Given the description of an element on the screen output the (x, y) to click on. 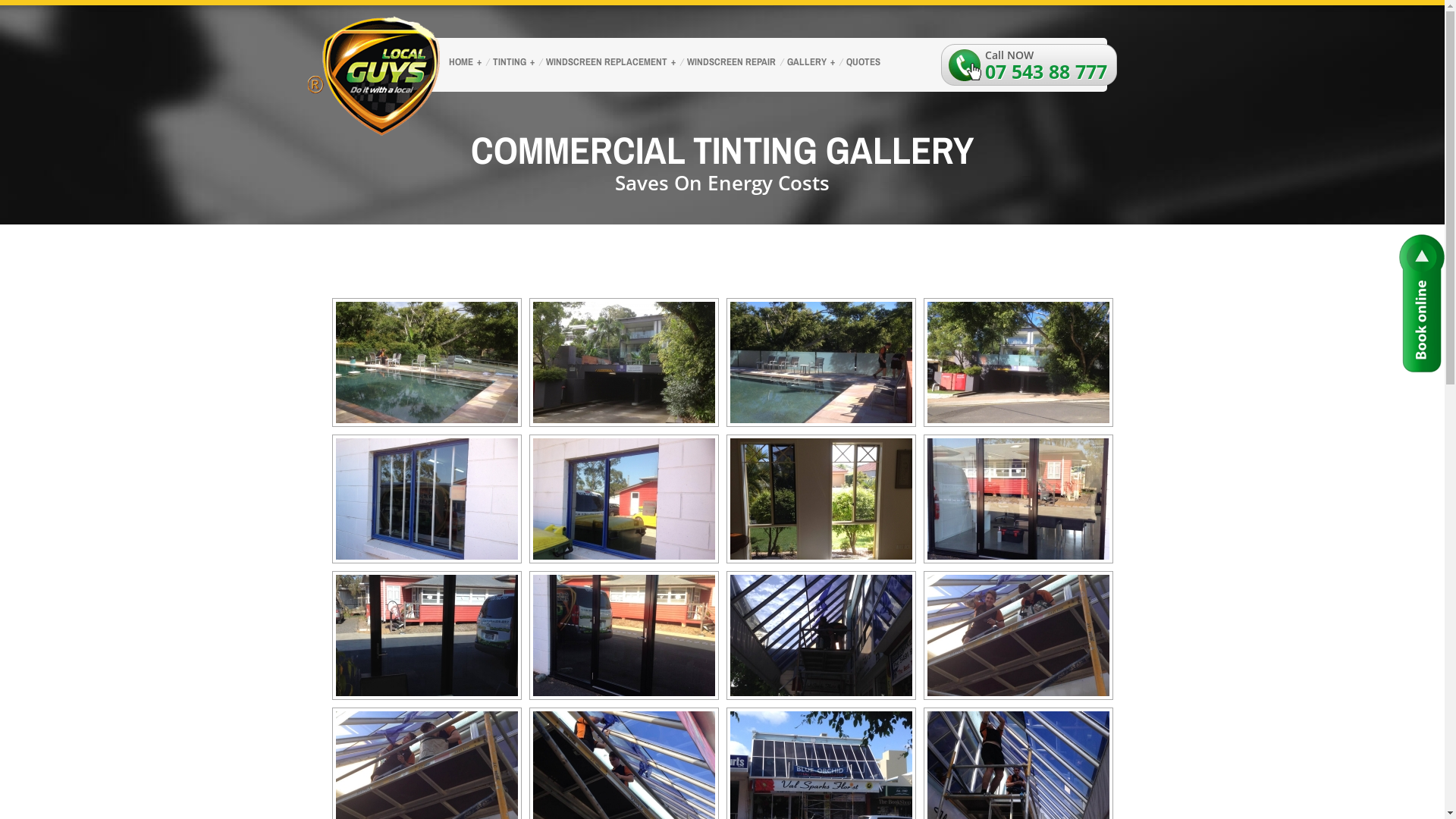
WINDSCREEN REPAIR Element type: text (729, 63)
BEFORE Notice the glare Element type: hover (1017, 498)
AFTER Glare all gone. Element type: hover (426, 635)
GALLERY Element type: text (808, 63)
WINDSCREEN REPLACEMENT Element type: text (608, 63)
AFTER Warehouse Window Tint Element type: hover (623, 498)
TINTING Element type: text (511, 63)
BEFORE Pool Fence being Frosted for Privacy Element type: hover (623, 362)
QUOTES Element type: text (861, 63)
2013-09-25 15.49.50 Element type: hover (623, 635)
BEFORE Pool Fence being Frosted for Privacy Element type: hover (426, 362)
AFTER Pool Fence being Frosted for Privacy Element type: hover (820, 362)
Awning on Bullcock St Caloundra Strip and retint Element type: hover (820, 635)
Local Guys are not scared of heights Element type: hover (1017, 635)
AFTER Pool Fence Frosted for Privacy Element type: hover (1017, 362)
2013-09-24 10.40.51 Element type: hover (820, 498)
HOME Element type: text (463, 63)
BEFORE Warehouse Window Tint Element type: hover (426, 498)
